Given the description of an element on the screen output the (x, y) to click on. 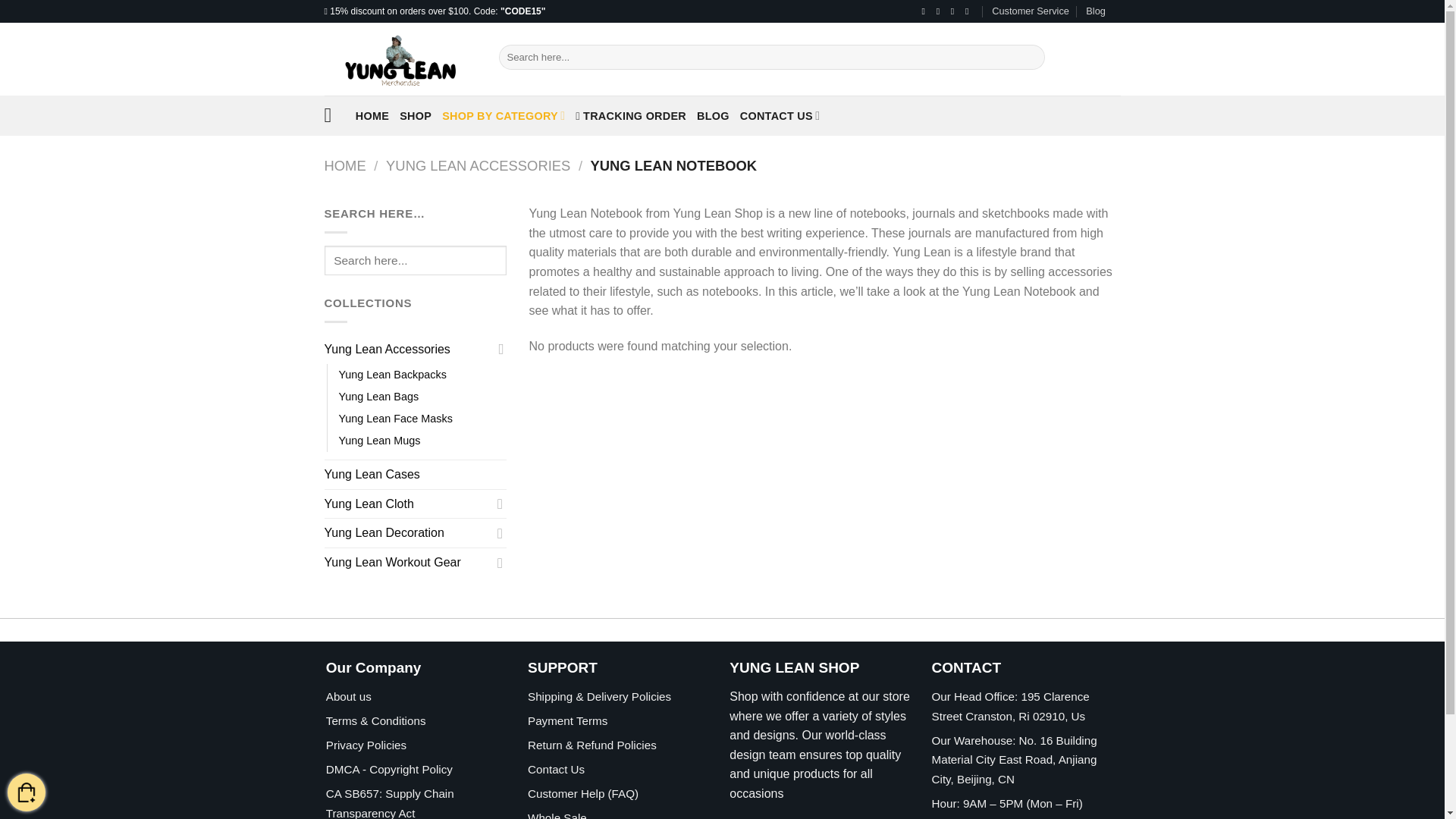
Customer Service (1029, 11)
SHOP BY CATEGORY (503, 115)
Follow on Twitter (954, 10)
SHOP (414, 115)
Follow on Facebook (925, 10)
Yung Lean Shop - Official Yung Lean Merchandise Store (400, 59)
Blog (1095, 11)
Follow on Instagram (940, 10)
HOME (371, 115)
View your shopping cart (26, 792)
Send us an email (969, 10)
